Given the description of an element on the screen output the (x, y) to click on. 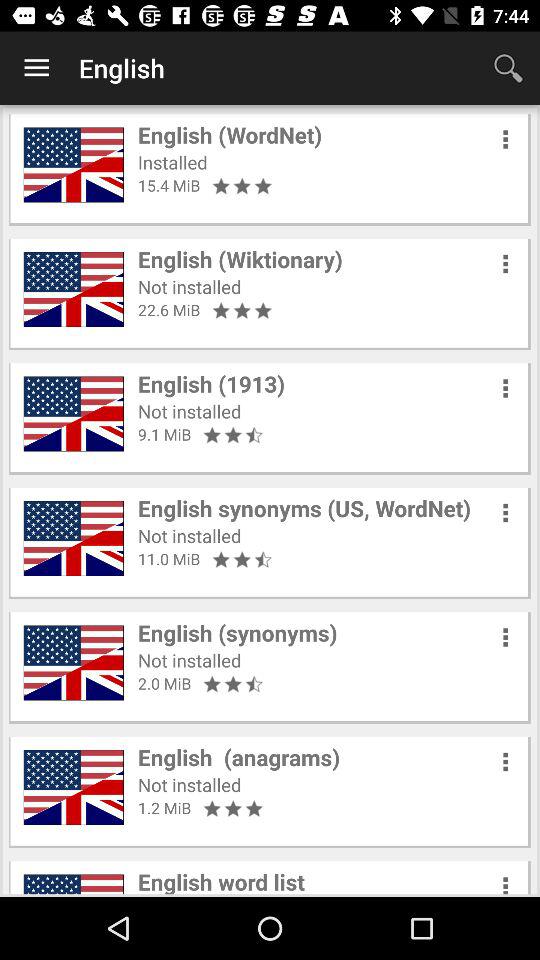
jump until the english word list item (221, 880)
